Given the description of an element on the screen output the (x, y) to click on. 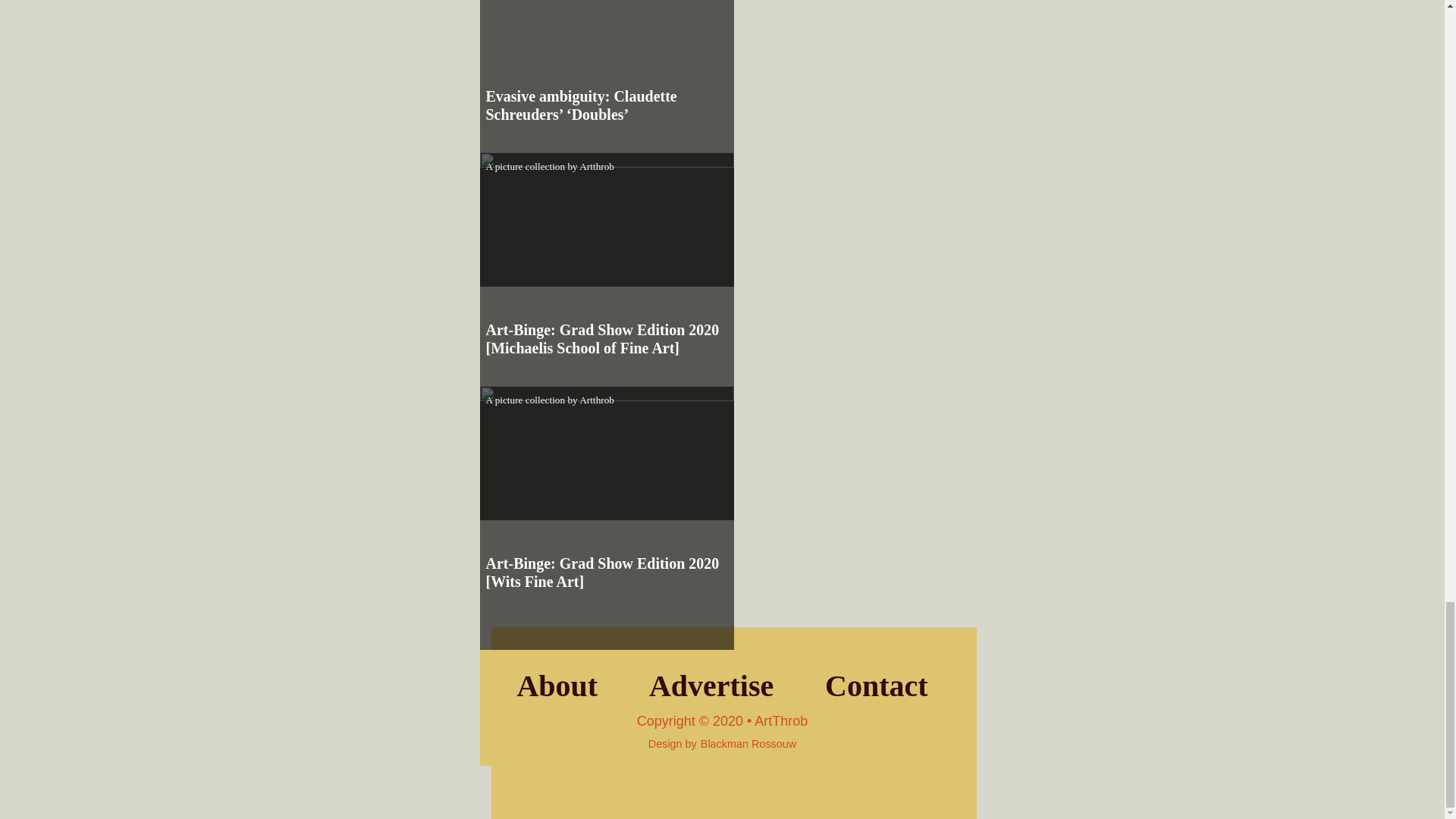
Artthrob (596, 399)
Artthrob (596, 165)
About (556, 685)
